Given the description of an element on the screen output the (x, y) to click on. 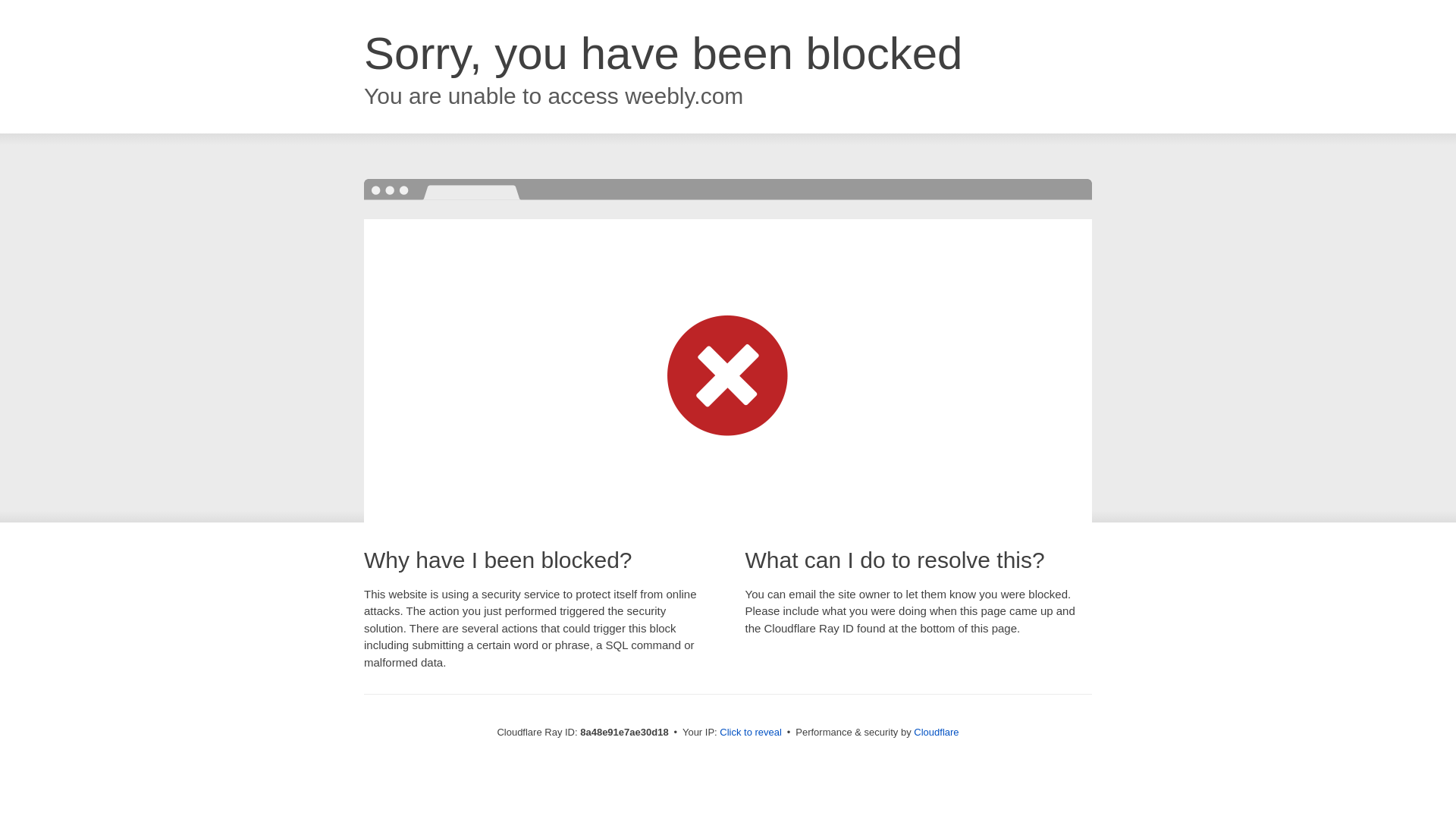
Click to reveal (750, 732)
Cloudflare (936, 731)
